Given the description of an element on the screen output the (x, y) to click on. 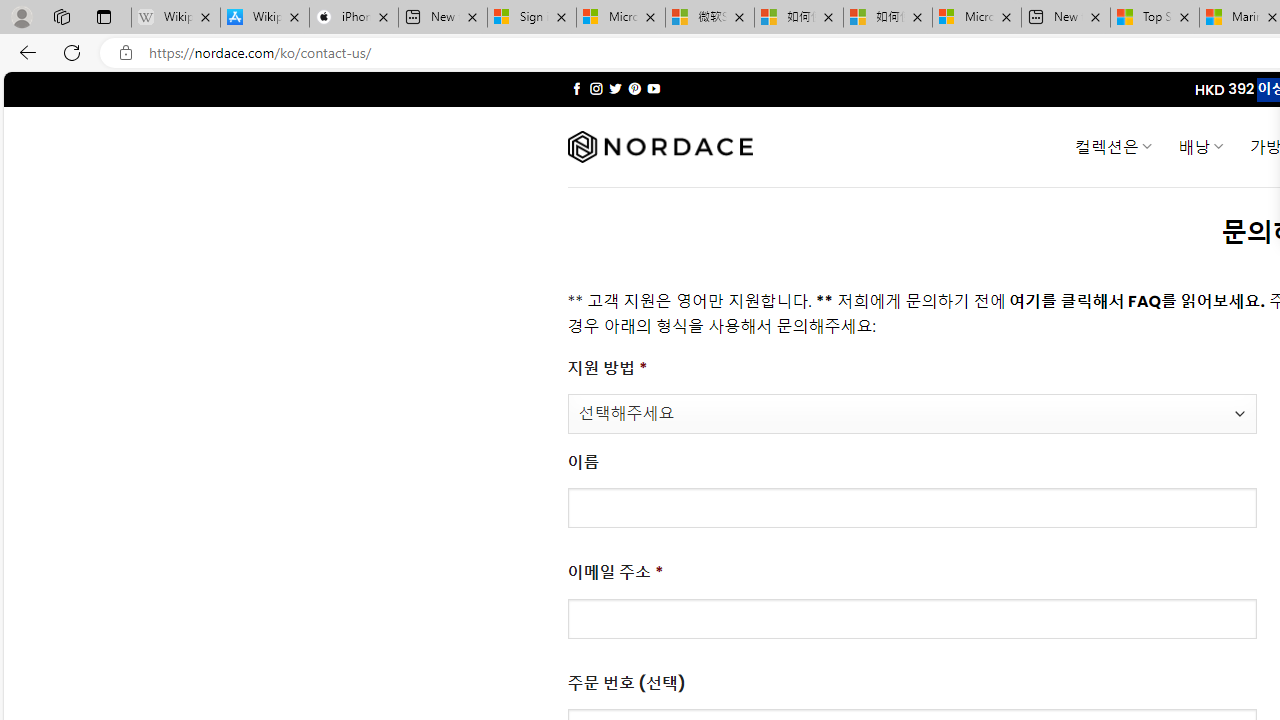
Microsoft account | Account Checkup (977, 17)
Back (24, 52)
Close tab (1184, 16)
iPhone - Apple (353, 17)
Tab actions menu (104, 16)
Follow on Instagram (596, 88)
Personal Profile (21, 16)
Sign in to your Microsoft account (531, 17)
